Given the description of an element on the screen output the (x, y) to click on. 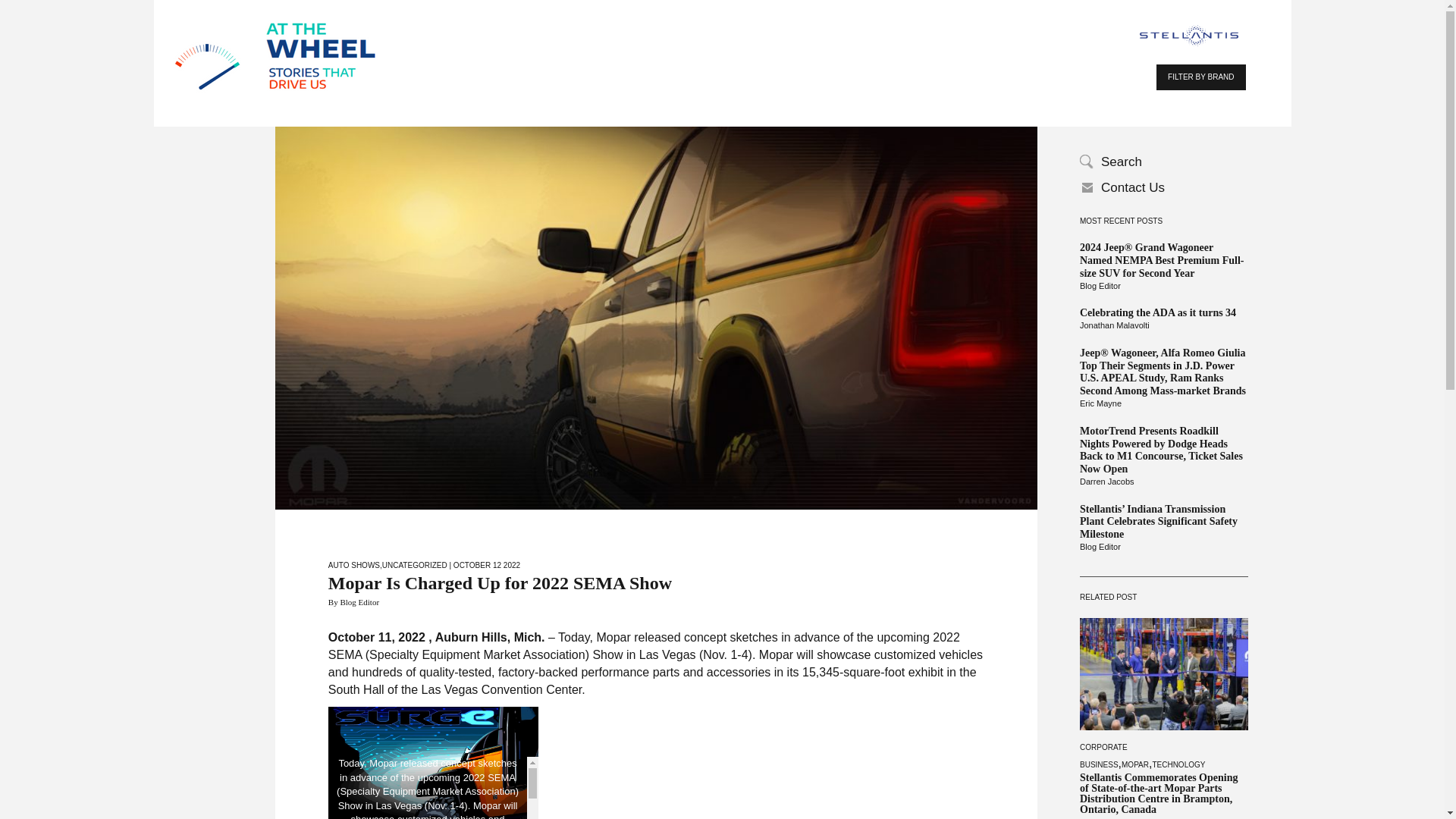
Blog Editor (1163, 547)
Contact Us (1163, 187)
TECHNOLOGY (1178, 764)
FILTER BY BRAND (1200, 77)
MOPAR (1134, 764)
CORPORATE BUSINESS (1103, 755)
Blog Editor (1163, 286)
Darren Jacobs (1163, 481)
Celebrating the ADA as it turns 34 (1163, 313)
Jonathan Malavolti (1163, 326)
Search (1163, 162)
Eric Mayne (1163, 404)
